Given the description of an element on the screen output the (x, y) to click on. 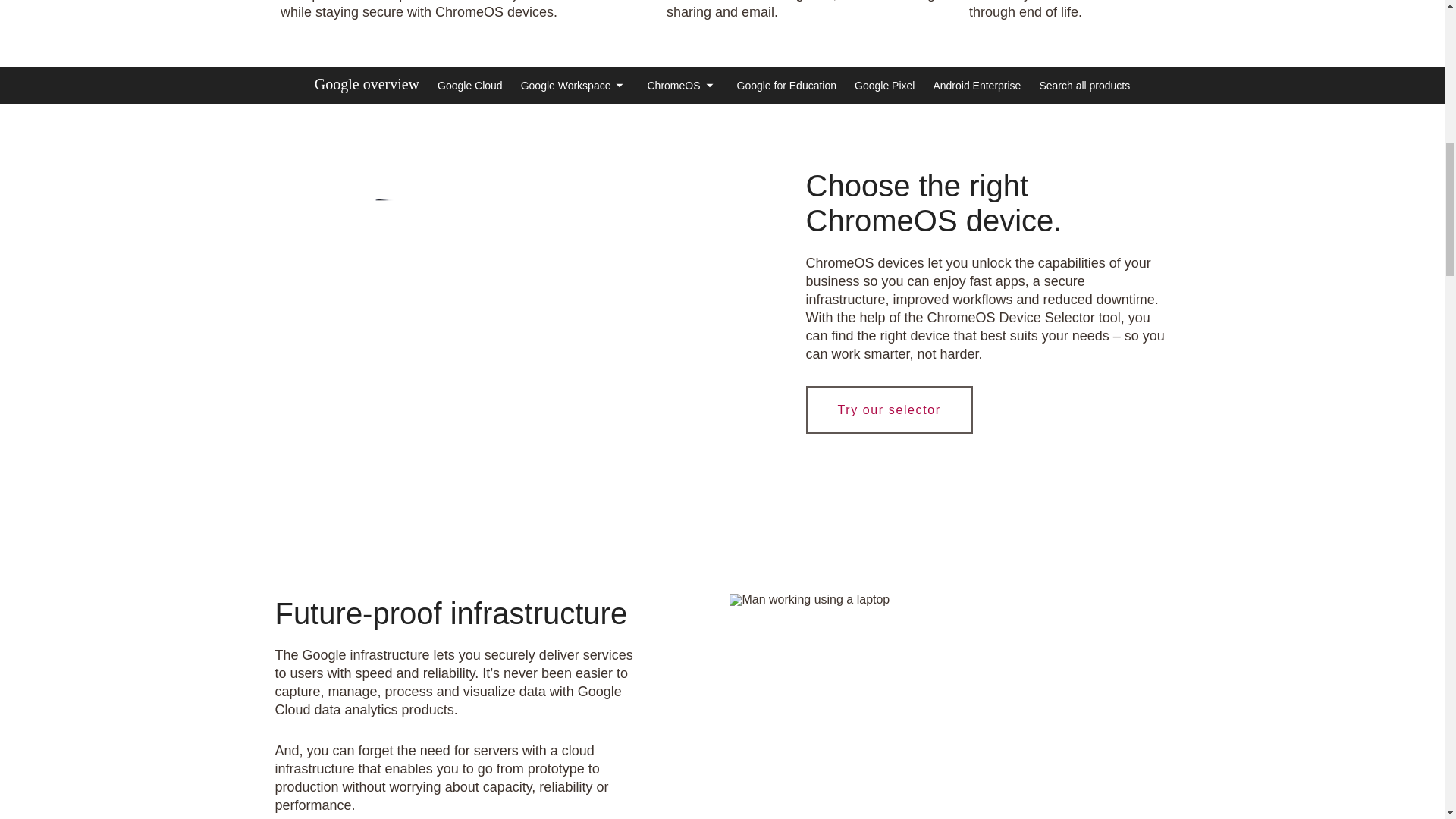
Try our selector (888, 409)
Future-proof infrastructure (809, 599)
Chrome OS devices for business (494, 302)
